Given the description of an element on the screen output the (x, y) to click on. 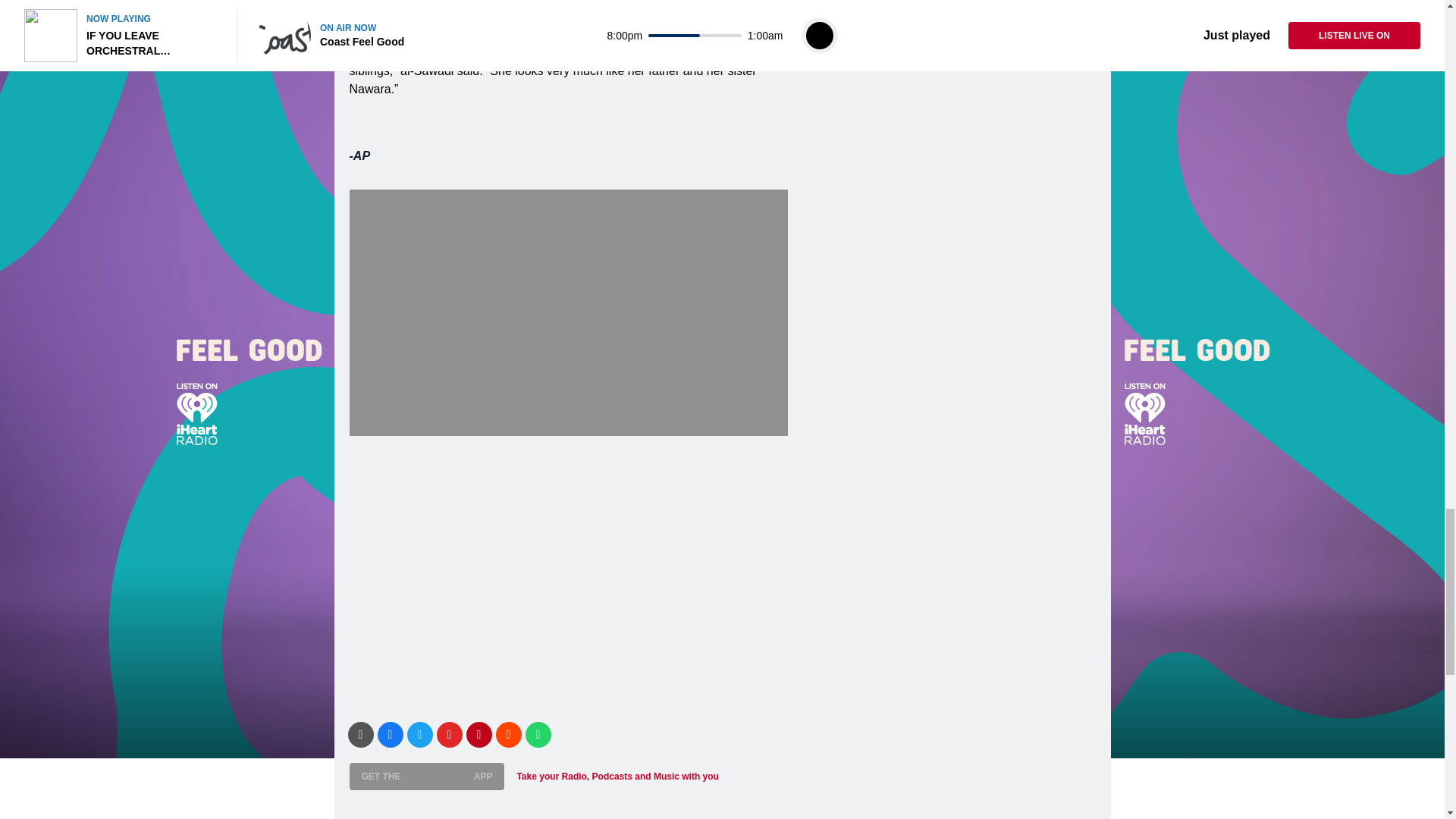
Share with whatsapp (537, 734)
Share with flipboard (449, 734)
Share with email (359, 734)
Share with pinterest (478, 734)
Share with twitter (419, 734)
Share with facebook (390, 734)
Share with reddit (508, 734)
